Given the description of an element on the screen output the (x, y) to click on. 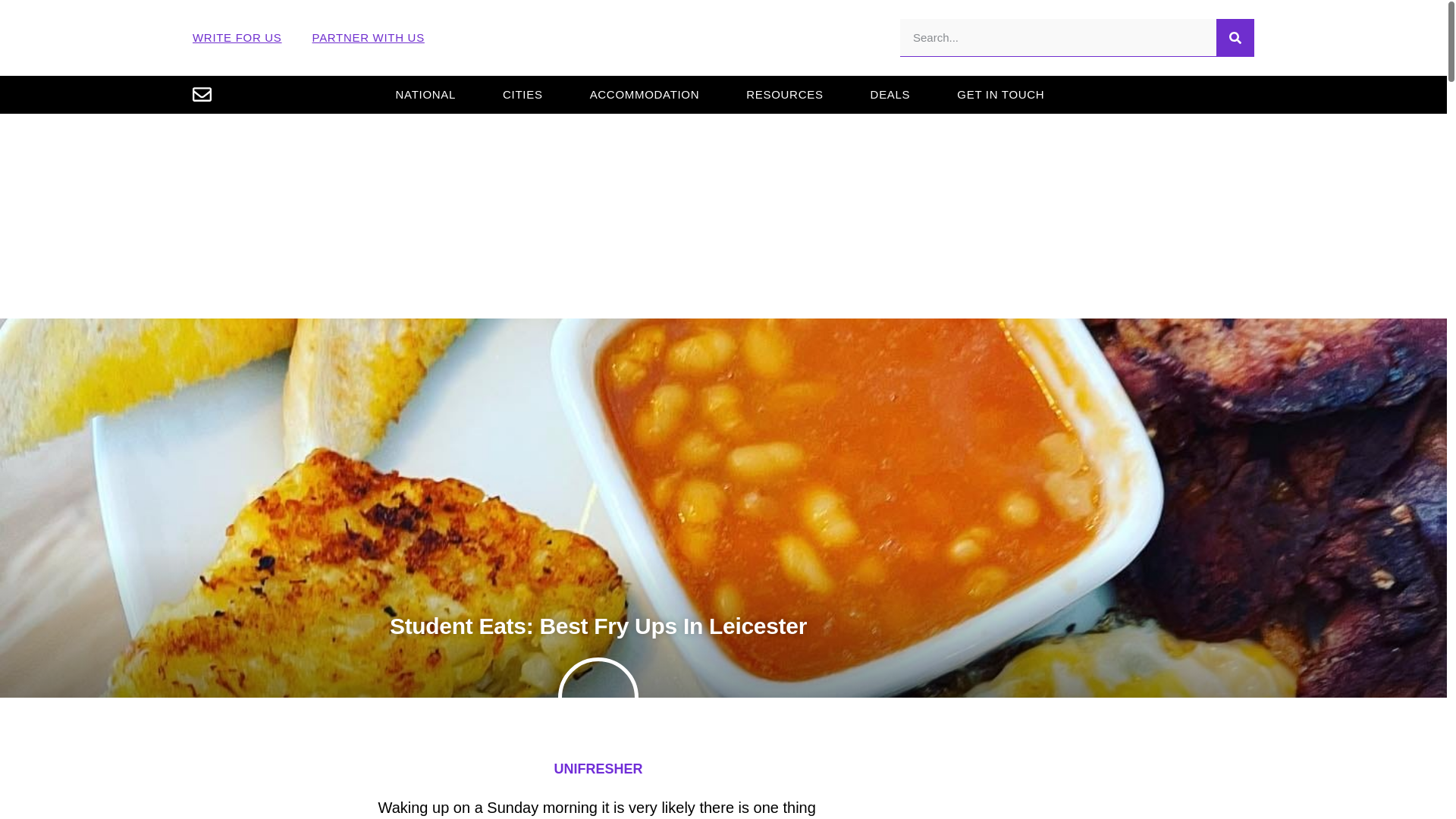
NATIONAL (425, 94)
Unifresher (723, 38)
WRITE FOR US (237, 37)
CITIES (523, 94)
ACCOMMODATION (644, 94)
RESOURCES (784, 94)
3rd party ad content (1098, 781)
PARTNER WITH US (369, 37)
